Given the description of an element on the screen output the (x, y) to click on. 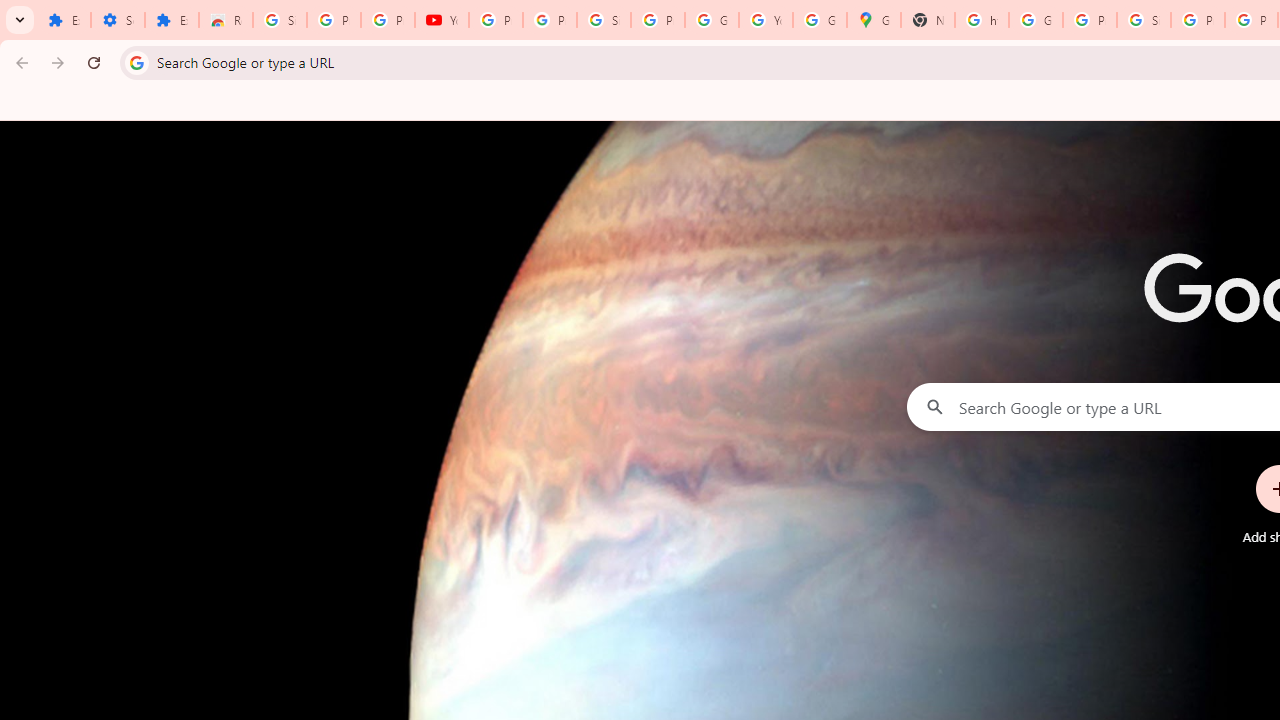
YouTube (765, 20)
Reviews: Helix Fruit Jump Arcade Game (225, 20)
New Tab (927, 20)
Forward (57, 62)
Search icon (136, 62)
Sign in - Google Accounts (280, 20)
Reload (93, 62)
YouTube (441, 20)
